Given the description of an element on the screen output the (x, y) to click on. 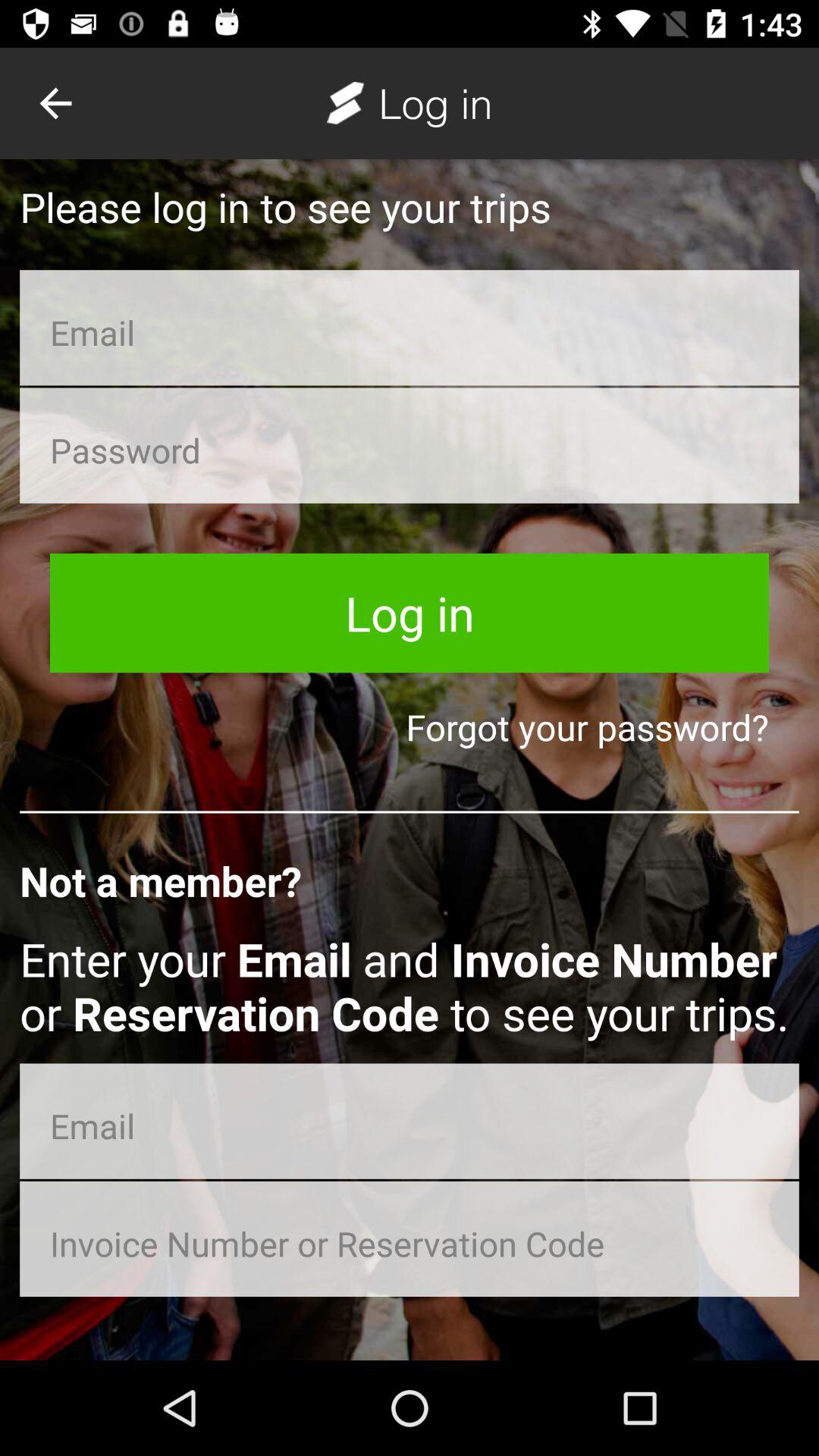
enter login password (409, 445)
